Given the description of an element on the screen output the (x, y) to click on. 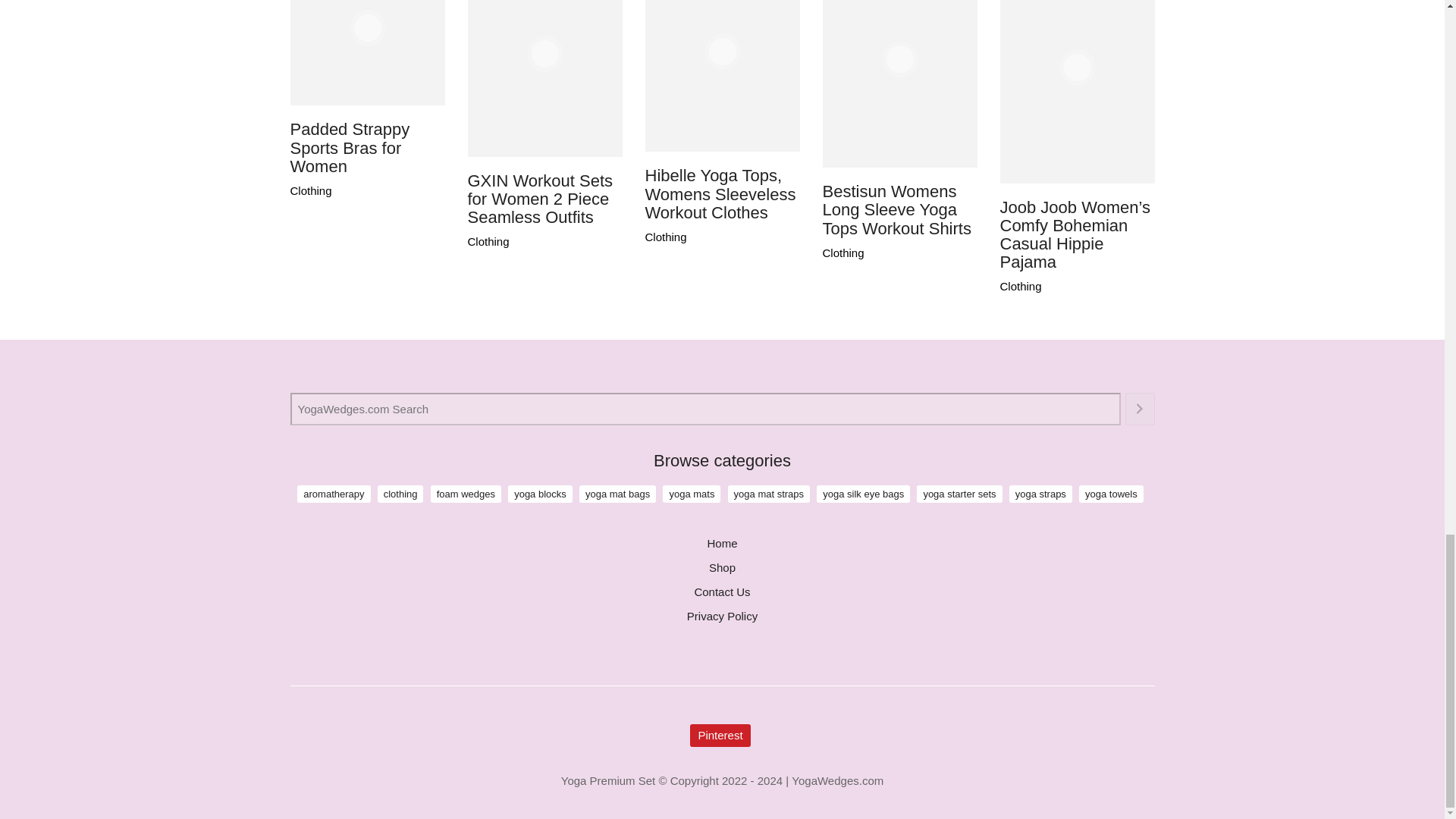
Pinterest (719, 734)
